Given the description of an element on the screen output the (x, y) to click on. 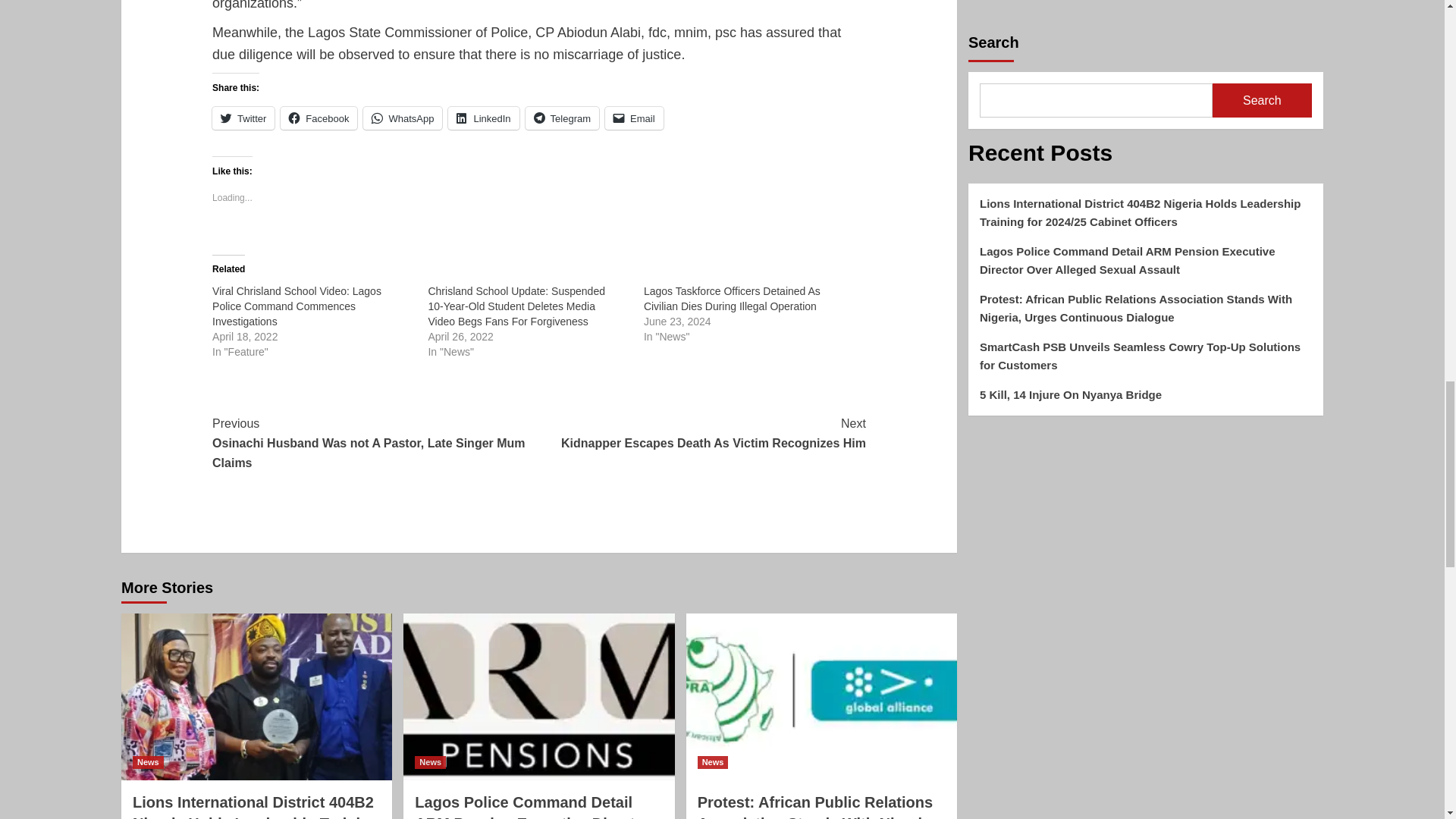
Twitter (243, 118)
Click to share on Facebook (318, 118)
WhatsApp (402, 118)
Click to share on Twitter (243, 118)
Click to share on Telegram (561, 118)
Telegram (561, 118)
Click to share on WhatsApp (402, 118)
Email (702, 433)
Click to share on LinkedIn (634, 118)
Facebook (483, 118)
